Given the description of an element on the screen output the (x, y) to click on. 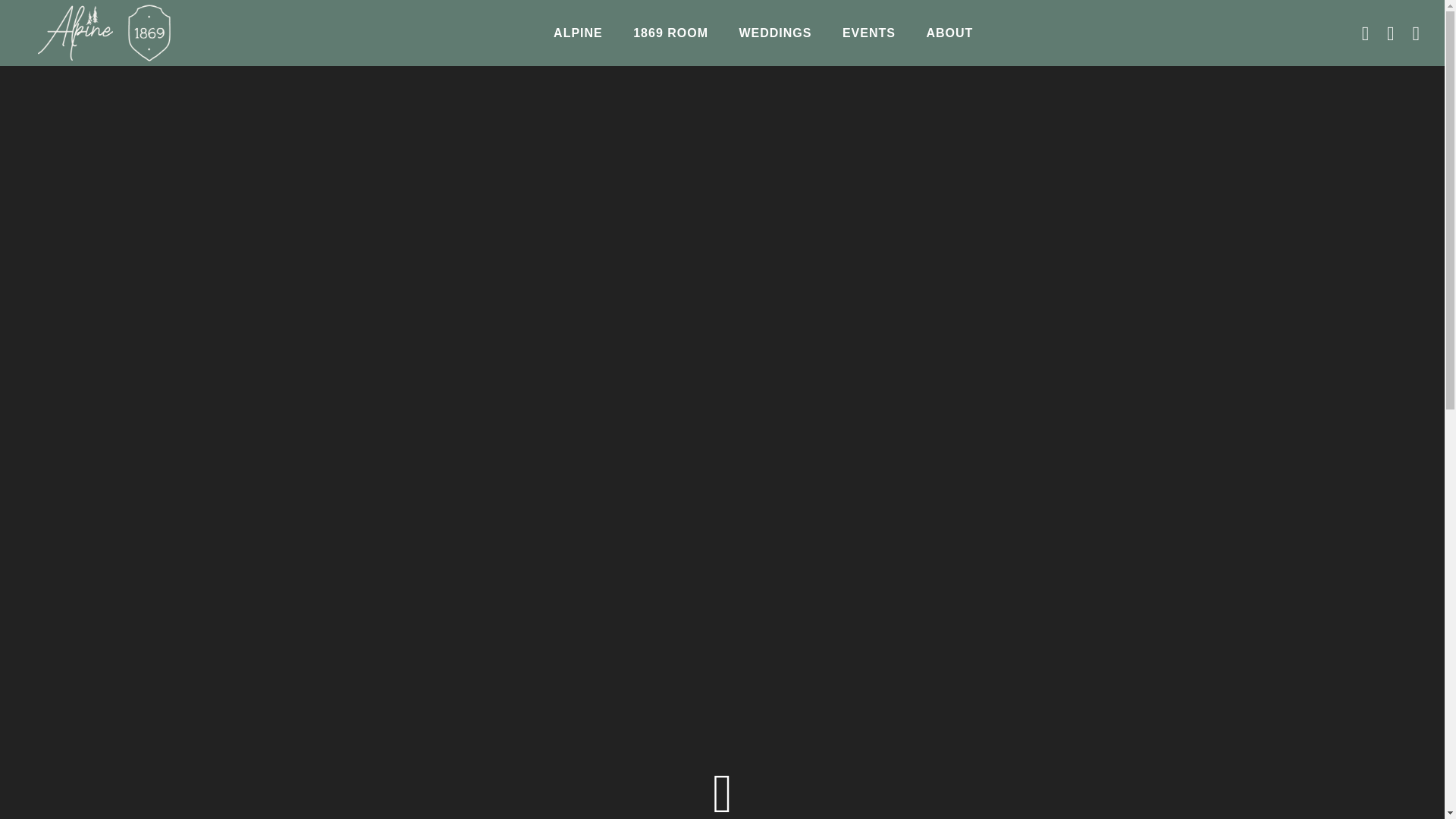
ABOUT (949, 33)
1869 ROOM (671, 33)
ALPINE (577, 33)
EVENTS (868, 33)
WEDDINGS (775, 33)
